Given the description of an element on the screen output the (x, y) to click on. 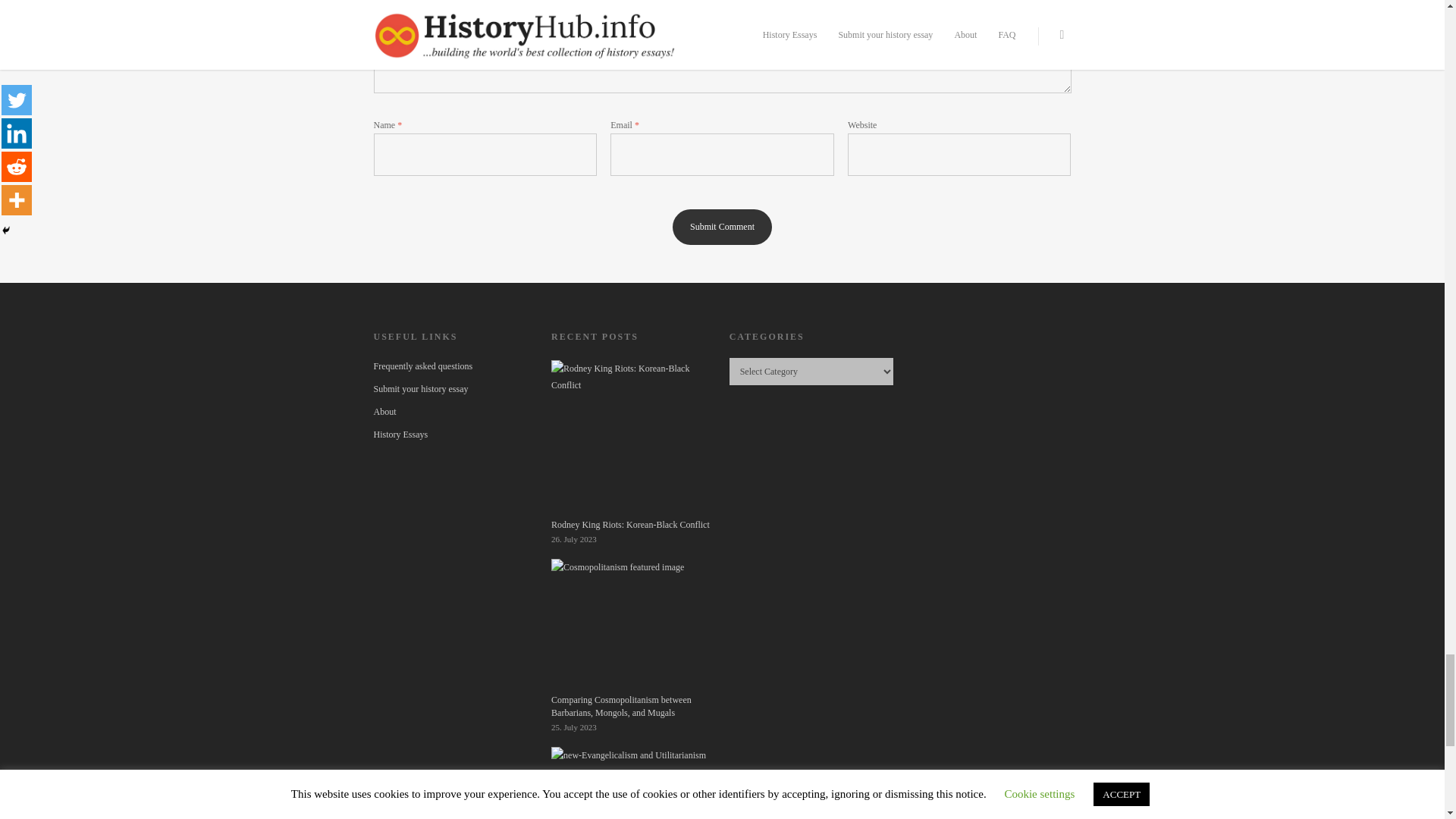
Submit Comment (721, 226)
Rodney King Riots: Korean-Black Conflict (632, 444)
Rodney King Riots: Korean-Black Conflict (629, 438)
